Given the description of an element on the screen output the (x, y) to click on. 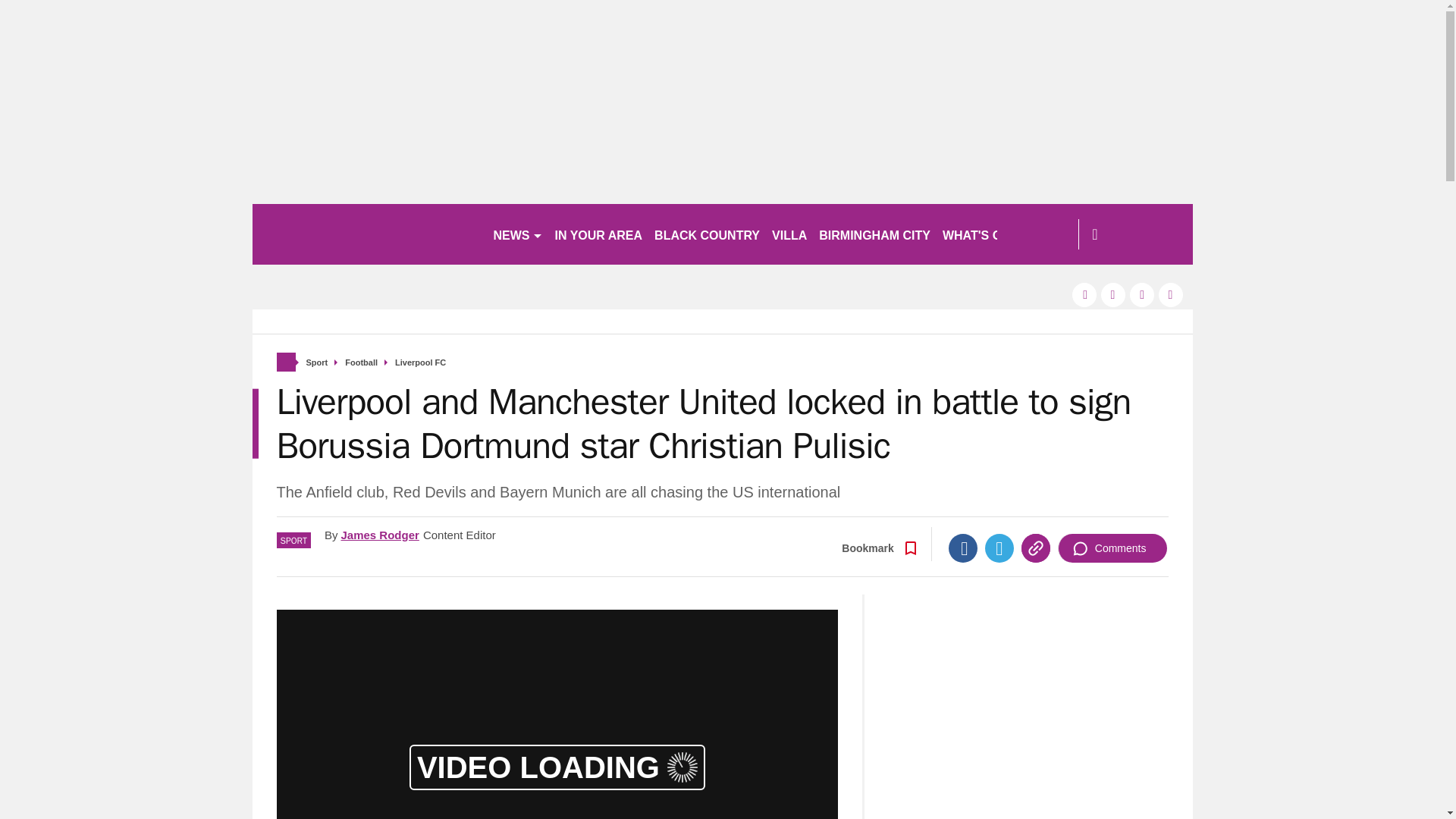
WHAT'S ON (982, 233)
birminghammail (365, 233)
facebook (1083, 294)
instagram (1170, 294)
tiktok (1141, 294)
Facebook (962, 547)
VILLA (788, 233)
BLACK COUNTRY (706, 233)
twitter (1112, 294)
NEWS (517, 233)
IN YOUR AREA (598, 233)
BIRMINGHAM CITY (874, 233)
Twitter (999, 547)
Comments (1112, 547)
